Given the description of an element on the screen output the (x, y) to click on. 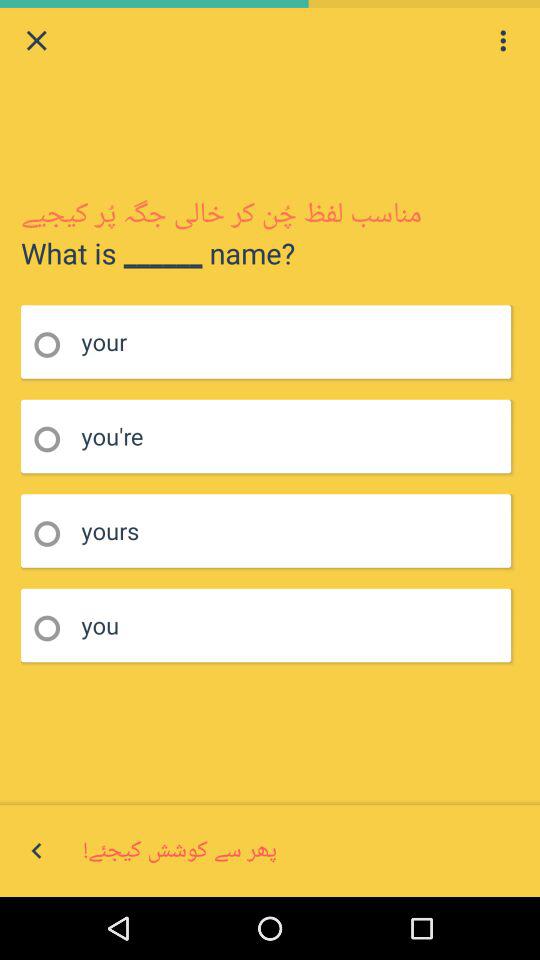
wrong option (53, 628)
